Given the description of an element on the screen output the (x, y) to click on. 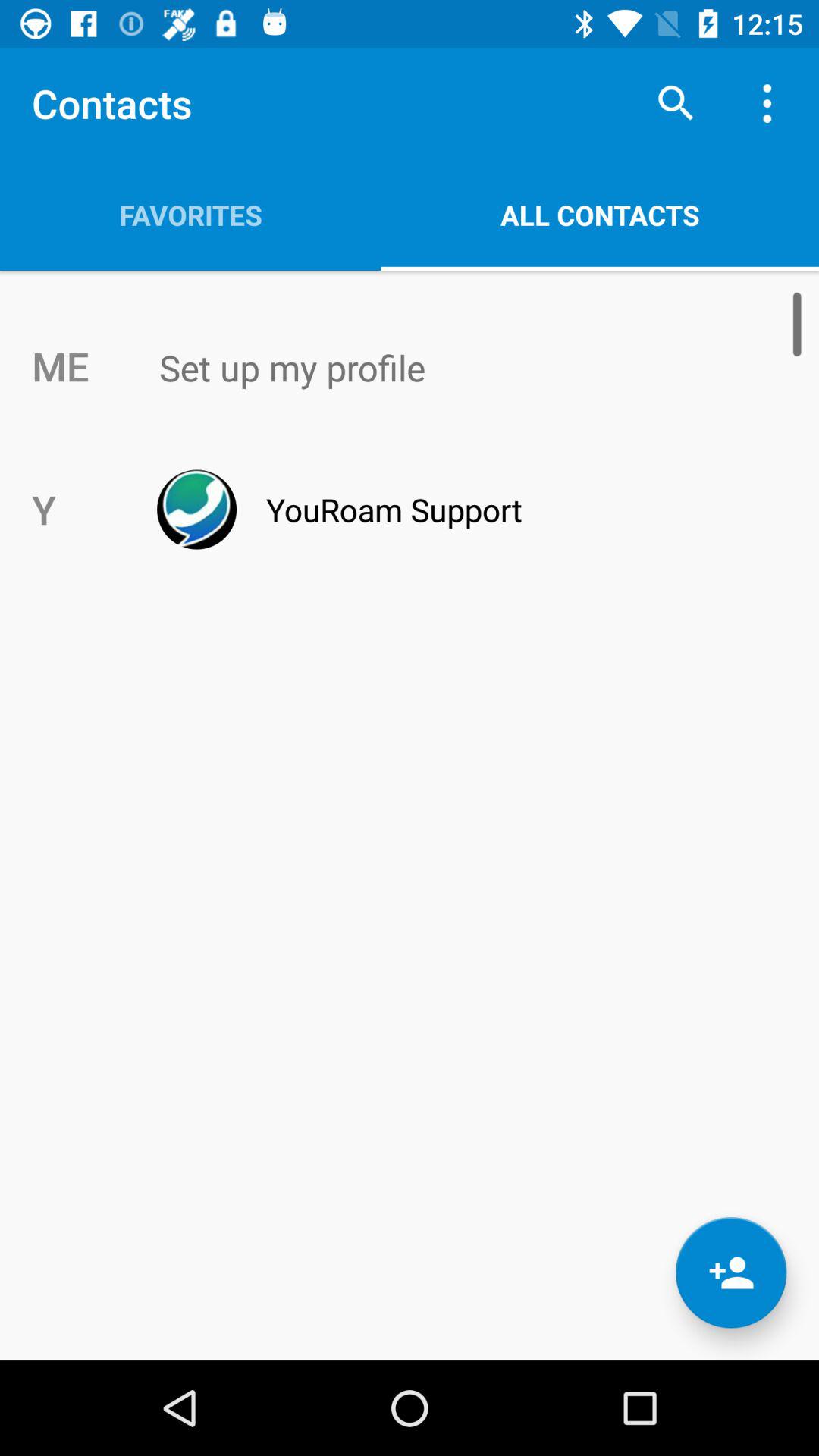
turn off the icon next to the favorites item (675, 103)
